Given the description of an element on the screen output the (x, y) to click on. 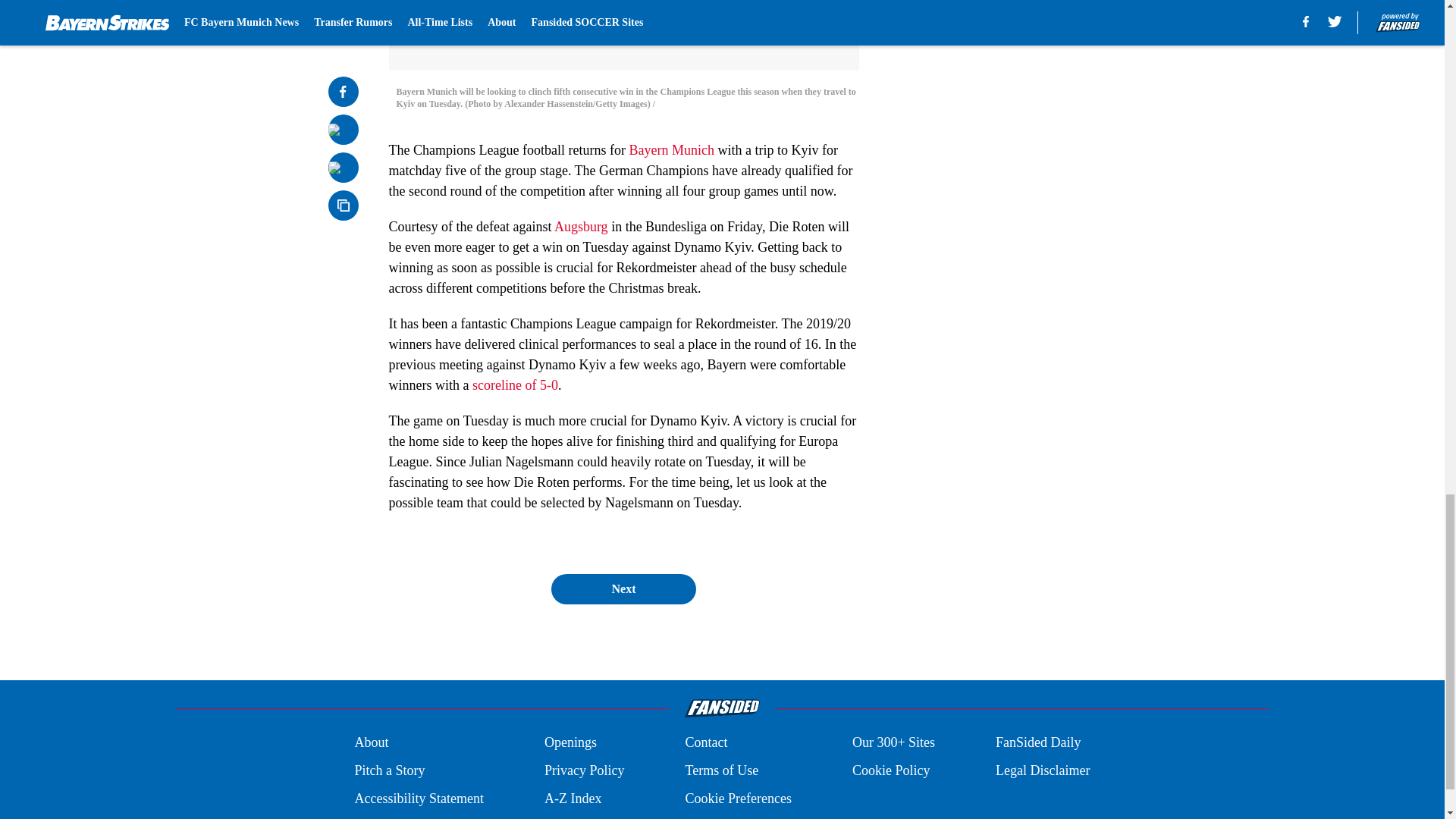
Terms of Use (721, 770)
scoreline of 5-0 (514, 385)
Cookie Preferences (737, 798)
FanSided Daily (1038, 742)
About (370, 742)
Bayern Munich (670, 150)
Next (622, 589)
Contact (705, 742)
Augsburg (581, 226)
A-Z Index (572, 798)
